Given the description of an element on the screen output the (x, y) to click on. 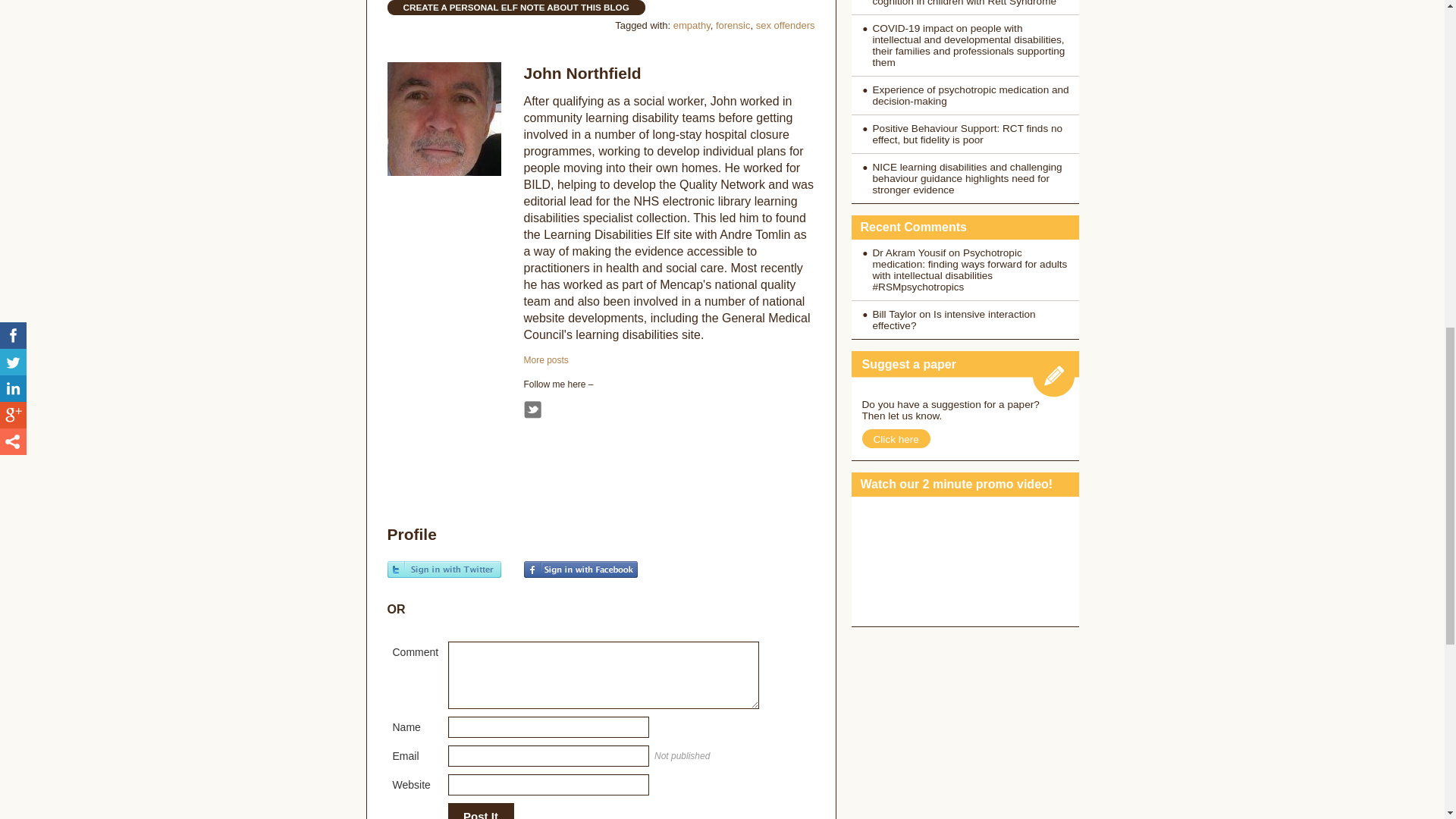
Post It (479, 811)
John Northfield (581, 72)
Twitter (531, 409)
John Northfield (544, 359)
